Given the description of an element on the screen output the (x, y) to click on. 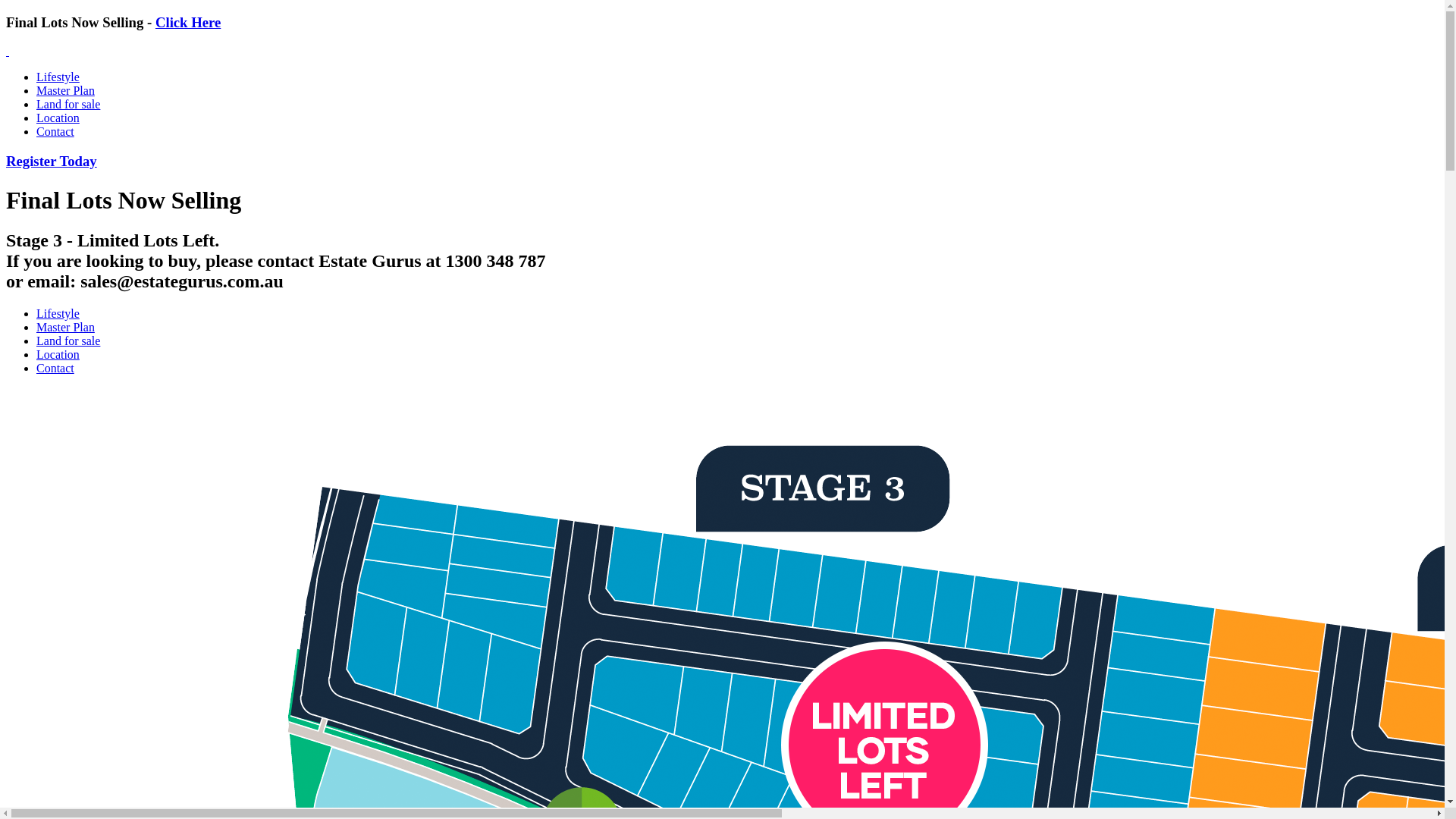
Location Element type: text (57, 117)
Contact Element type: text (55, 131)
Location Element type: text (57, 354)
Lifestyle Element type: text (57, 313)
Lifestyle Element type: text (57, 76)
Master Plan Element type: text (65, 326)
Land for sale Element type: text (68, 340)
Contact Element type: text (55, 367)
Land for sale Element type: text (68, 103)
Deanside Springs Element type: hover (7, 50)
Register Today Element type: text (51, 161)
Click Here Element type: text (187, 22)
Master Plan Element type: text (65, 90)
